Given the description of an element on the screen output the (x, y) to click on. 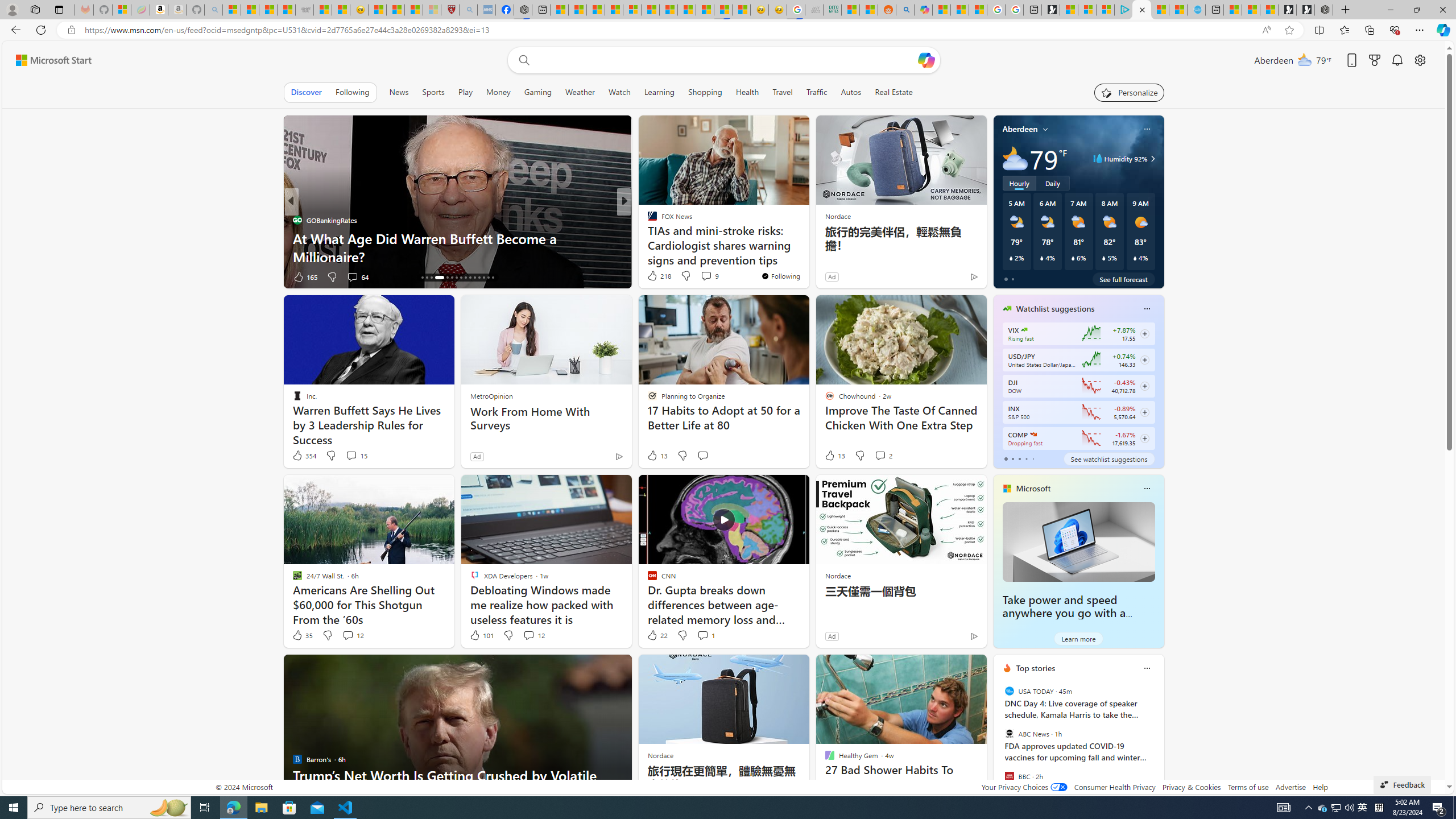
42 Like (652, 276)
13 Like (834, 455)
HuffPost UK (647, 219)
The Best Single Stock to Own for 5 Years (807, 256)
Daily (1052, 183)
AutomationID: tab-25 (470, 277)
AutomationID: tab-20 (443, 277)
